Given the description of an element on the screen output the (x, y) to click on. 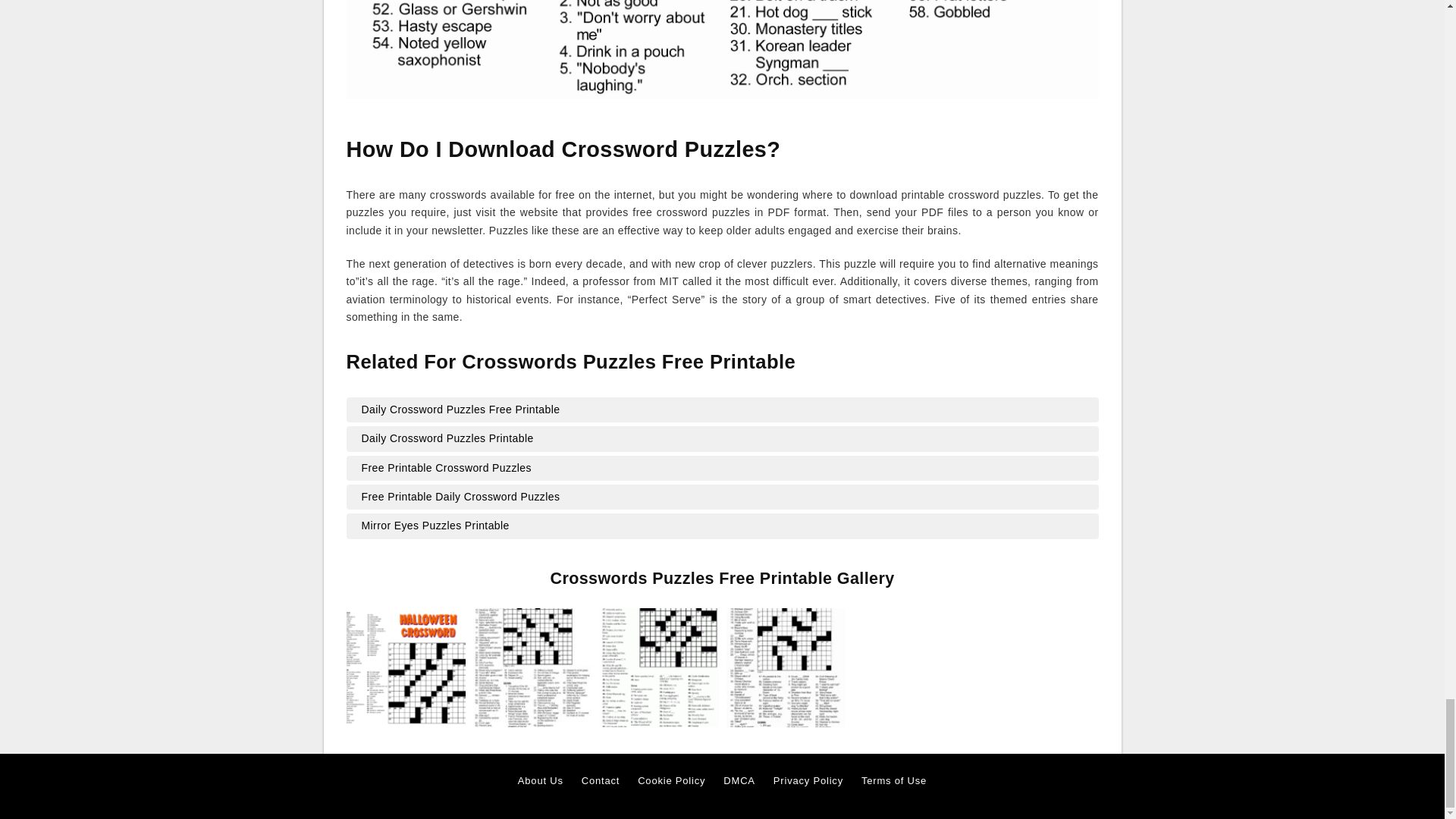
DMCA (738, 781)
Daily Crossword Puzzles Free Printable (721, 409)
Privacy Policy (808, 781)
About Us (540, 781)
Crossword Puzzles For Adults Best Coloring Pages For Kids (532, 667)
Daily Crossword Puzzles Printable (721, 438)
Free Printable Crossword Puzzles (721, 467)
Terms of Use (893, 781)
Contact (600, 781)
Mirror Eyes Puzzles Printable (721, 525)
Cookie Policy (670, 781)
Crossword Puzzles For Adults Best Coloring Pages For Kids (532, 666)
Free Printable Daily Crossword Puzzles (721, 496)
